Given the description of an element on the screen output the (x, y) to click on. 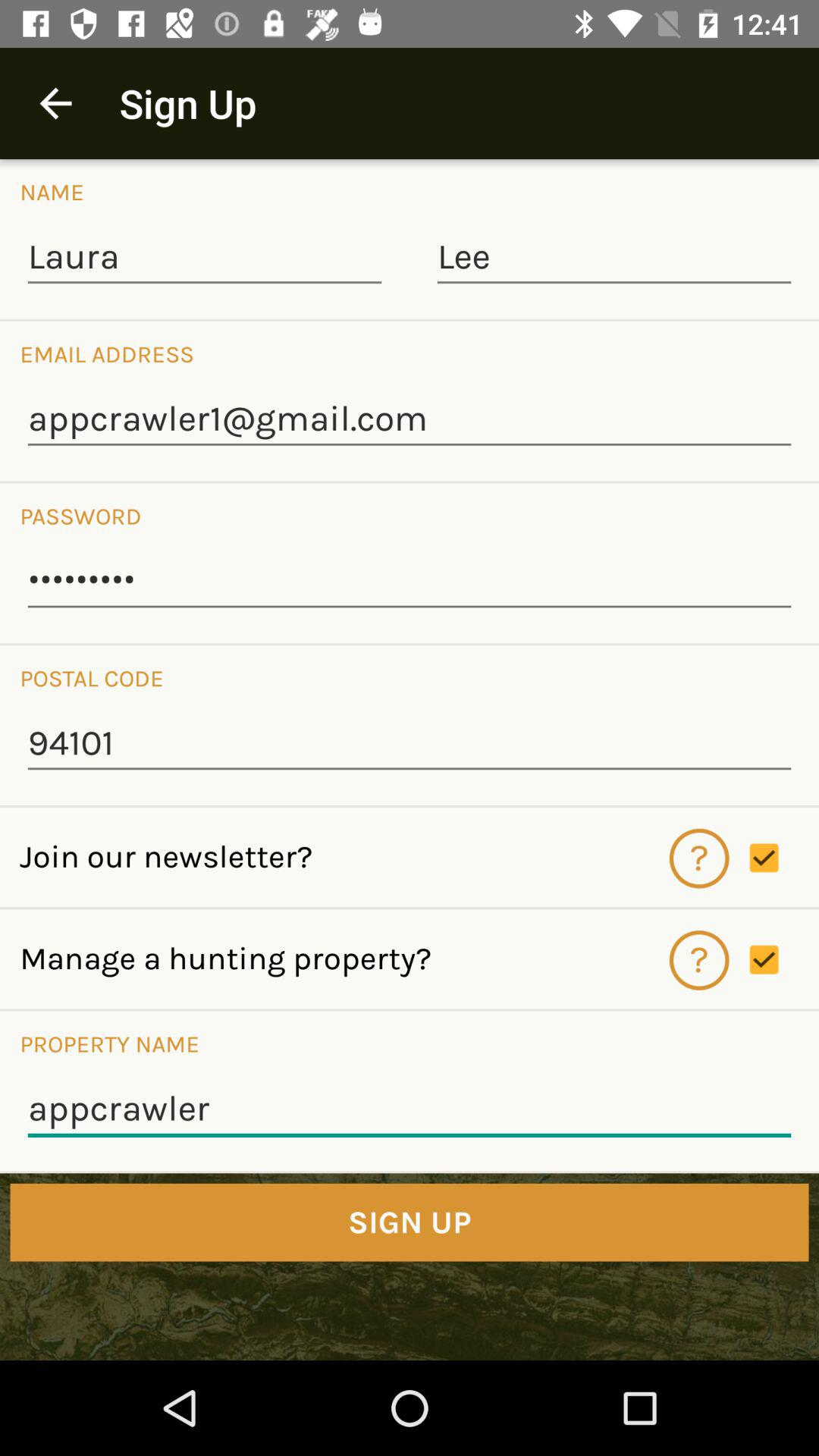
scroll until crowd3116 item (409, 581)
